Given the description of an element on the screen output the (x, y) to click on. 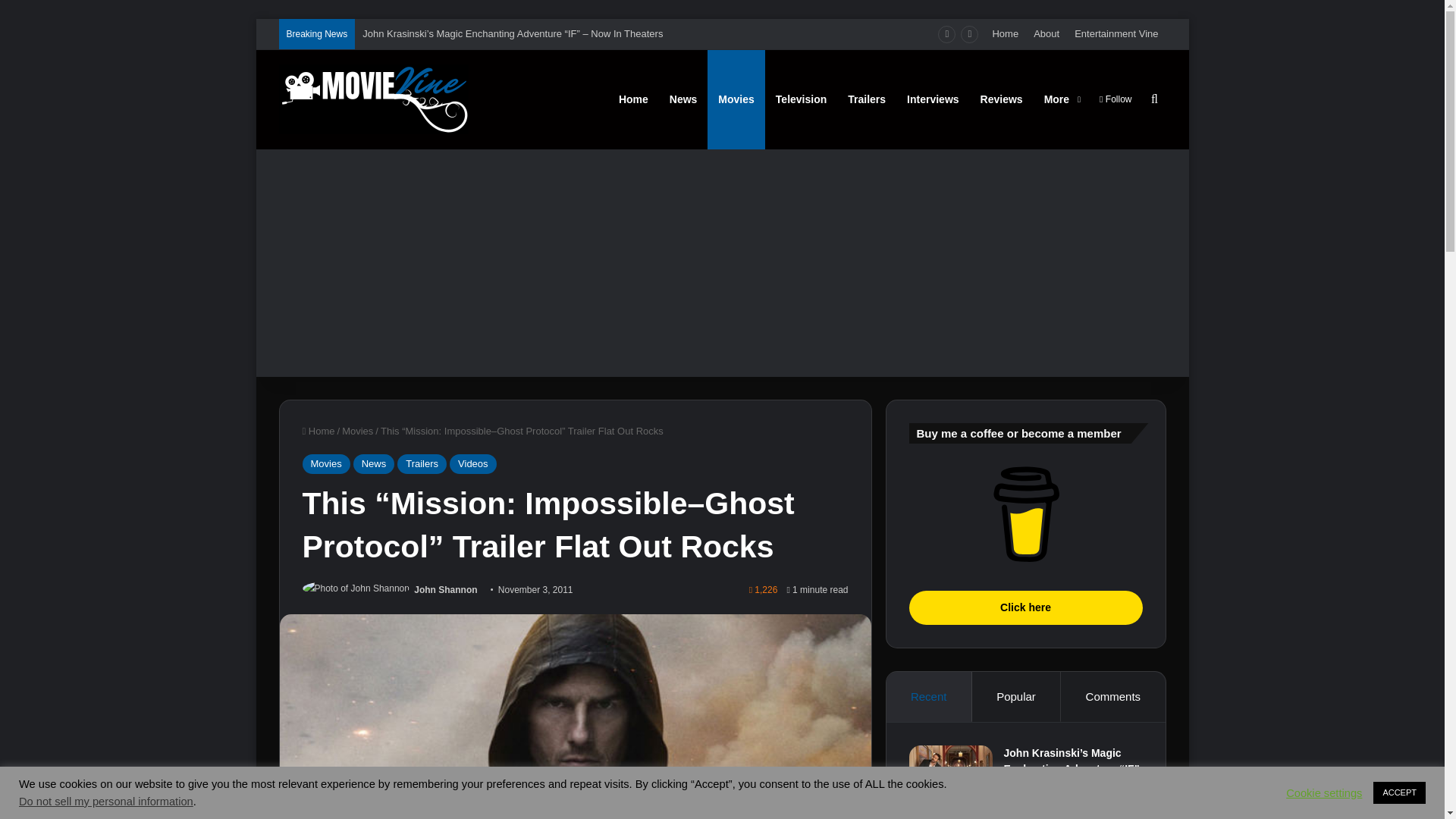
Movie Vine (373, 99)
Home (317, 430)
Home (1005, 33)
Movies (357, 430)
Entertainment Vine (1116, 33)
Click here (1025, 514)
About (1046, 33)
John Shannon (445, 589)
News (373, 464)
Movies (325, 464)
